Given the description of an element on the screen output the (x, y) to click on. 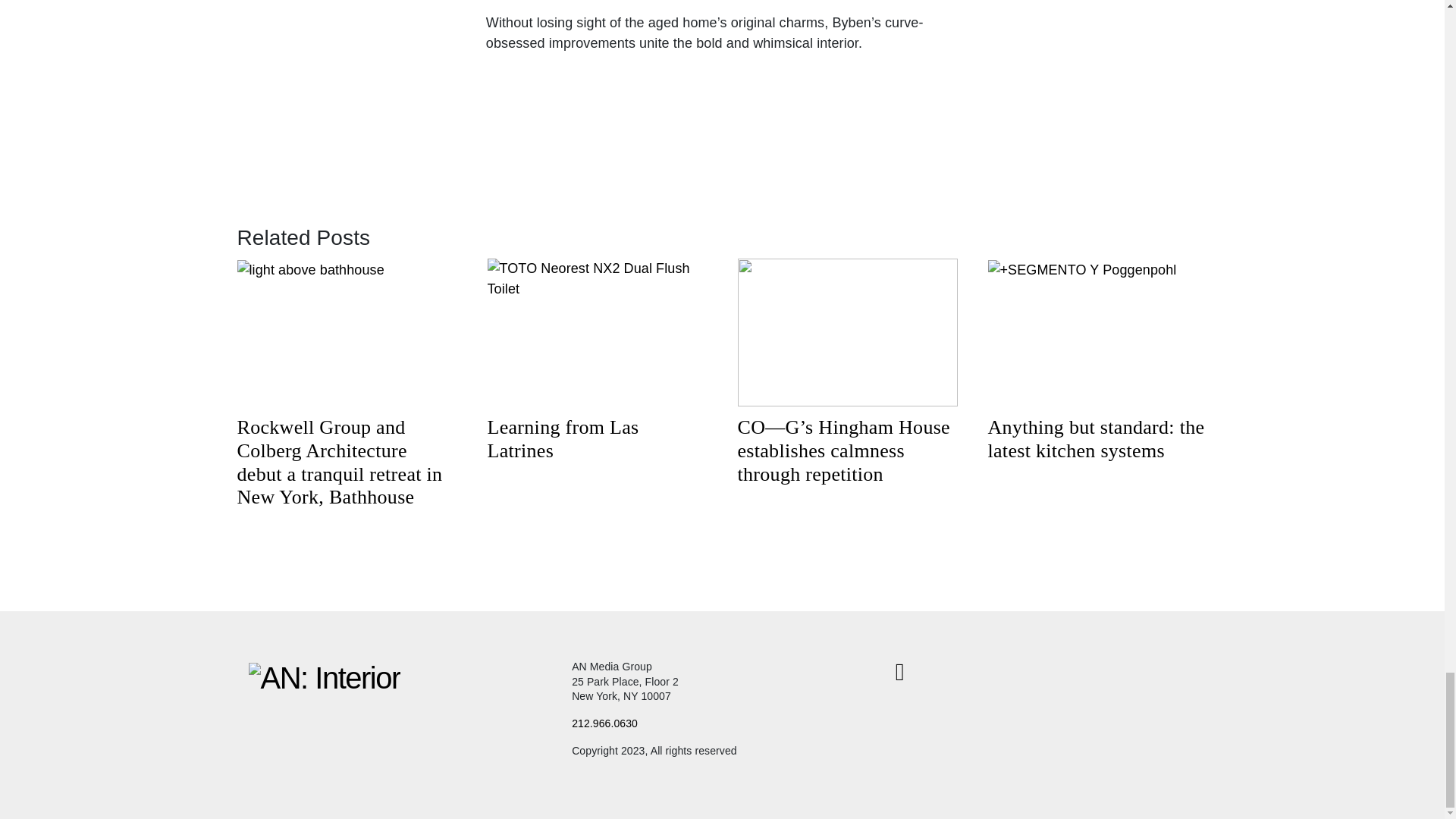
Learning from Las Latrines (562, 438)
212.966.0630 (604, 723)
Anything but standard: the latest kitchen systems (1095, 438)
